Given the description of an element on the screen output the (x, y) to click on. 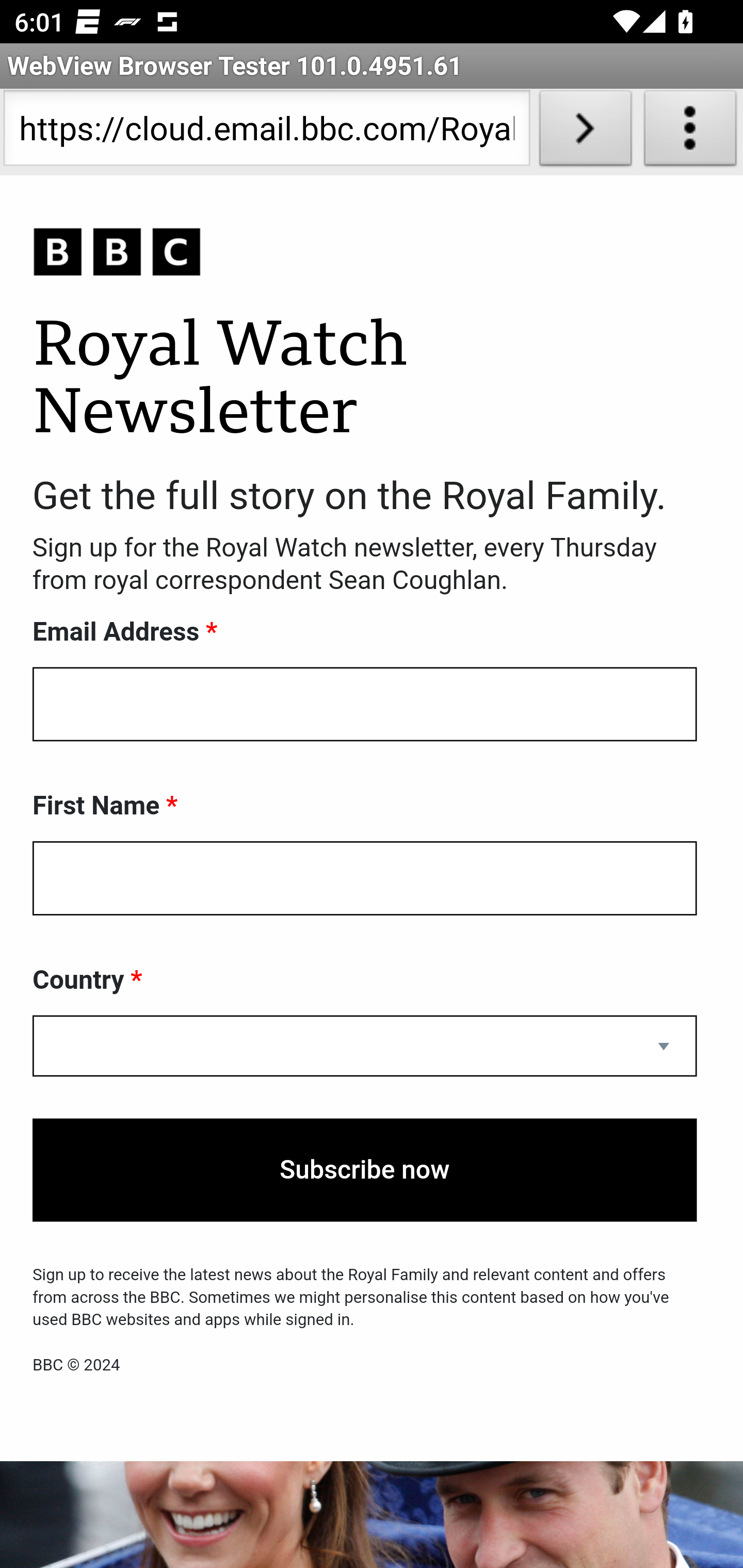
Load URL (585, 132)
About WebView (690, 132)
BBC (364, 253)
Subscribe now (364, 1170)
